Given the description of an element on the screen output the (x, y) to click on. 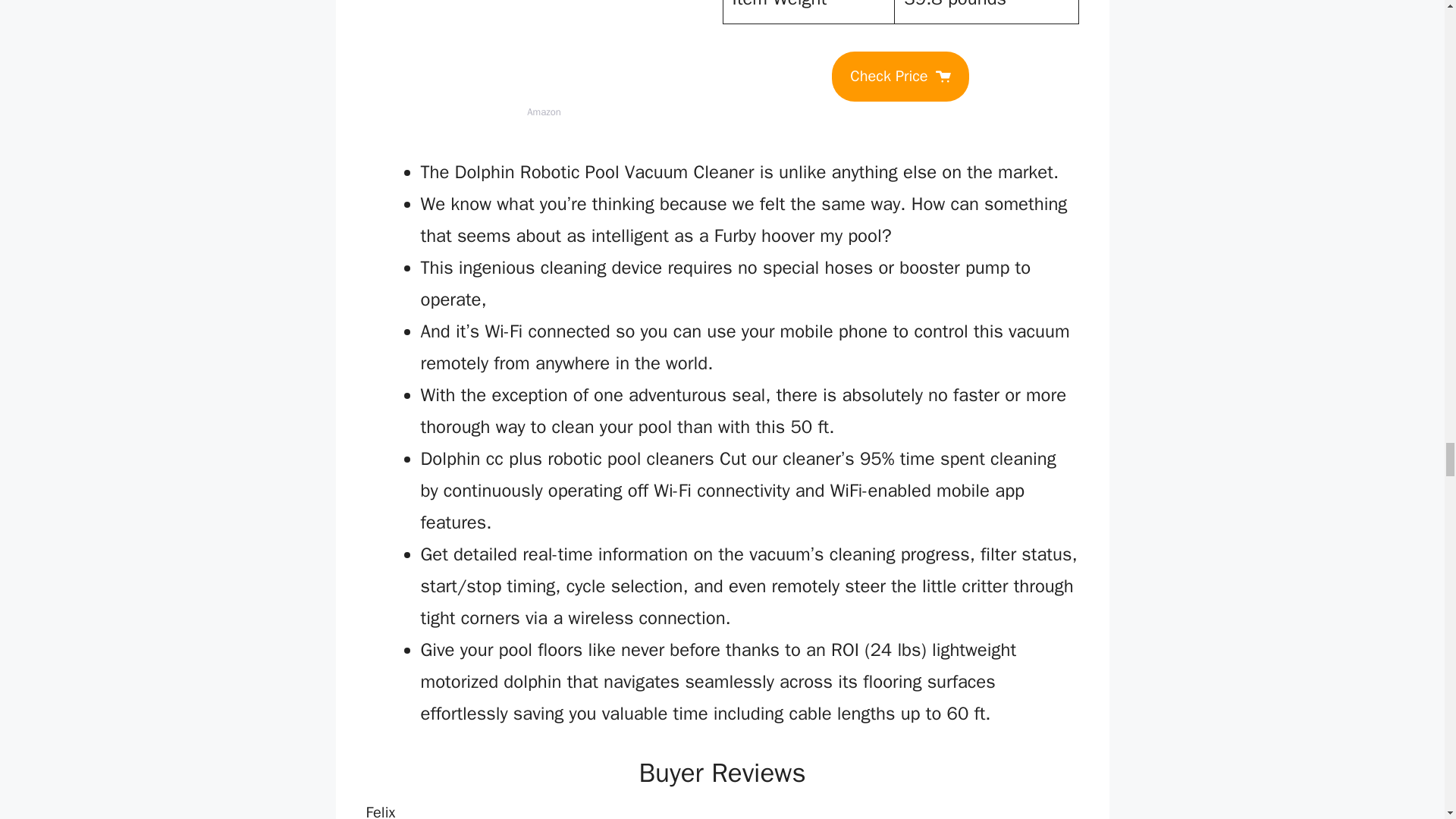
Check Price (899, 76)
